Given the description of an element on the screen output the (x, y) to click on. 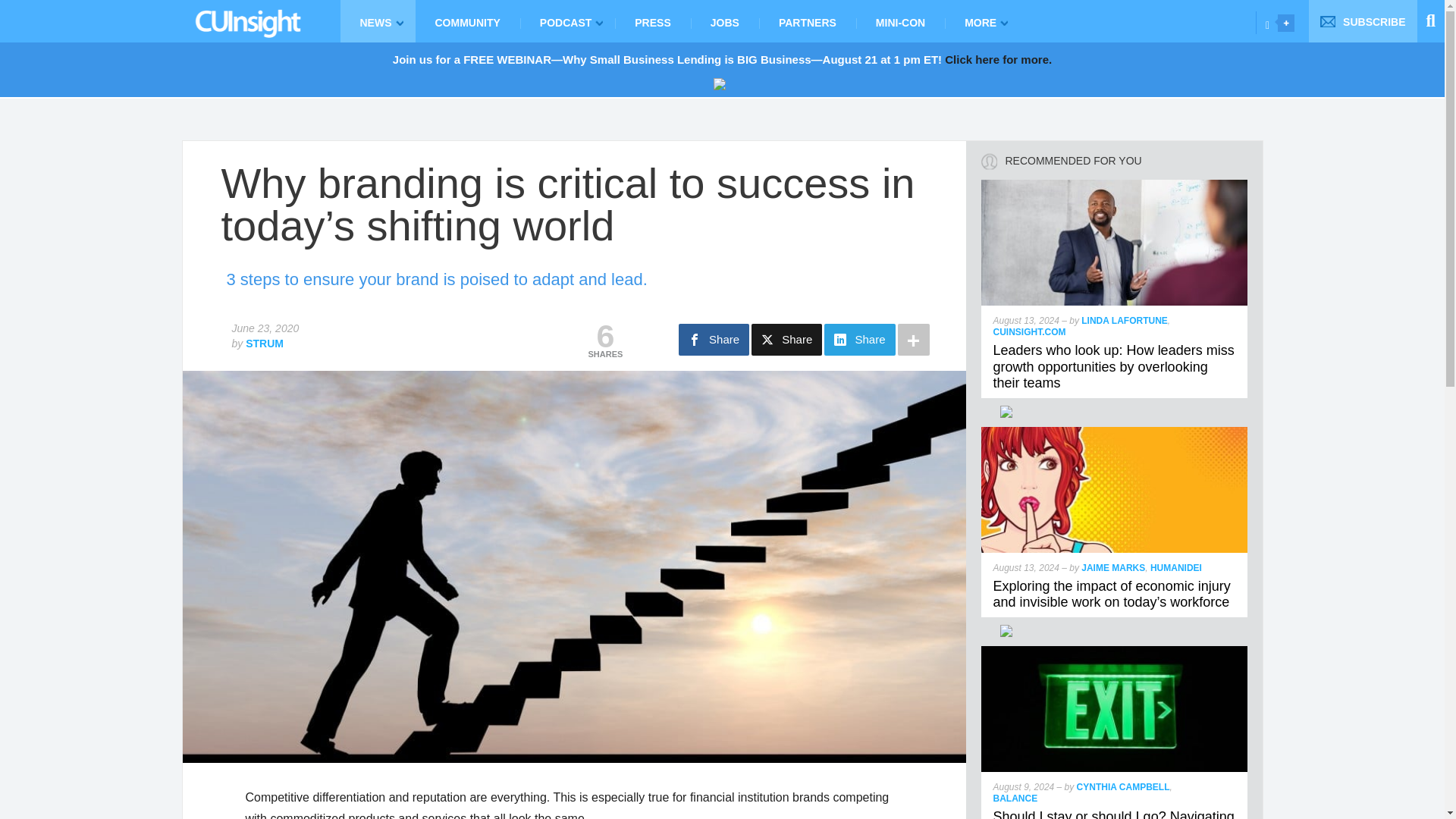
PARTNERS (807, 21)
NEWS (376, 21)
STRUM (264, 343)
PODCAST (566, 21)
Share (713, 339)
Opener (1286, 22)
